Given the description of an element on the screen output the (x, y) to click on. 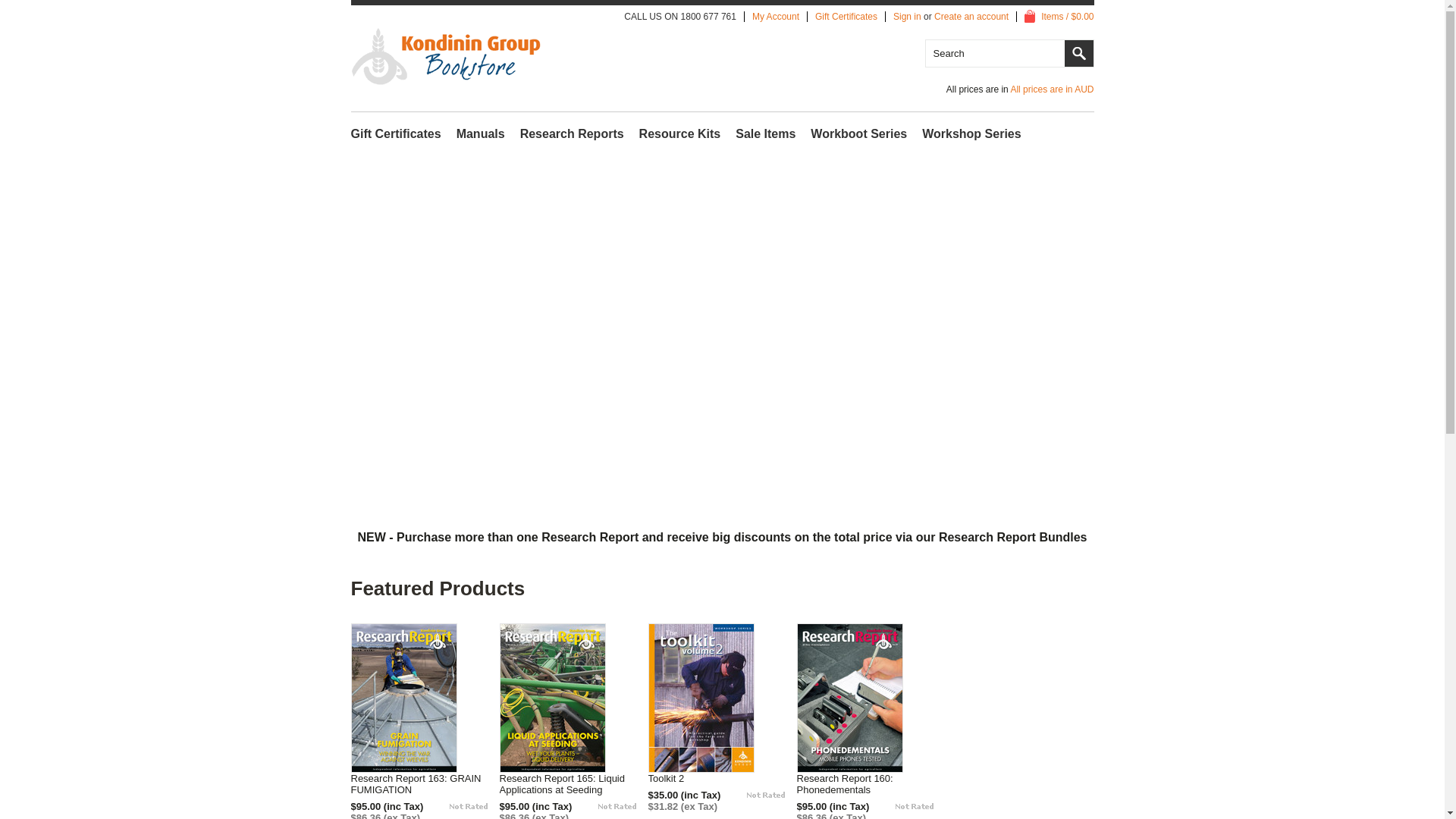
Workshop Series Element type: text (971, 134)
Gift Certificates Element type: text (846, 16)
 Items / $0.00 Element type: text (1058, 16)
Research Reports Element type: text (572, 134)
Search Element type: hover (1078, 53)
Gift Certificates Element type: text (395, 134)
Sign in Element type: text (907, 16)
View Cart Element type: hover (1029, 16)
Create an account Element type: text (971, 16)
Research Report 165: Liquid Applications at Seeding Element type: text (573, 783)
Manuals Element type: text (480, 134)
Research Report 160: Phonedementals Element type: text (870, 783)
Sale Items Element type: text (765, 134)
Research Report 163: GRAIN FUMIGATION Element type: text (424, 783)
My Account Element type: text (775, 16)
Toolkit 2 Element type: text (669, 778)
Resource Kits Element type: text (680, 134)
All prices are in AUD Element type: text (1051, 89)
Workboot Series Element type: text (858, 134)
